Given the description of an element on the screen output the (x, y) to click on. 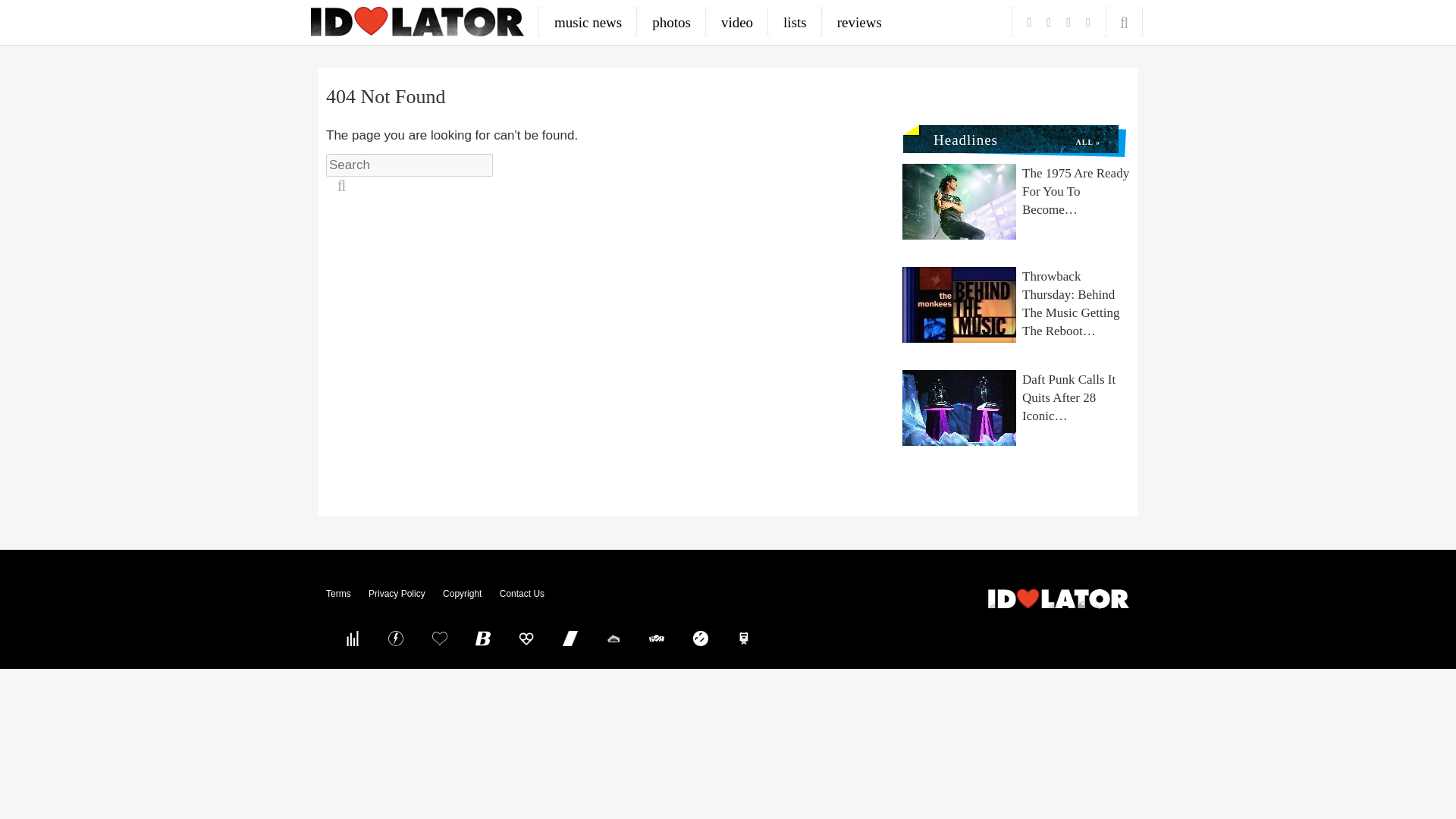
Pure Volume (351, 638)
Copyright (461, 593)
Contact Us (521, 593)
reviews (859, 22)
video (737, 22)
Daily Funny (699, 638)
Explored Hollywood (743, 638)
Buzznet (395, 638)
Headlines (958, 136)
Hooch (526, 638)
